Given the description of an element on the screen output the (x, y) to click on. 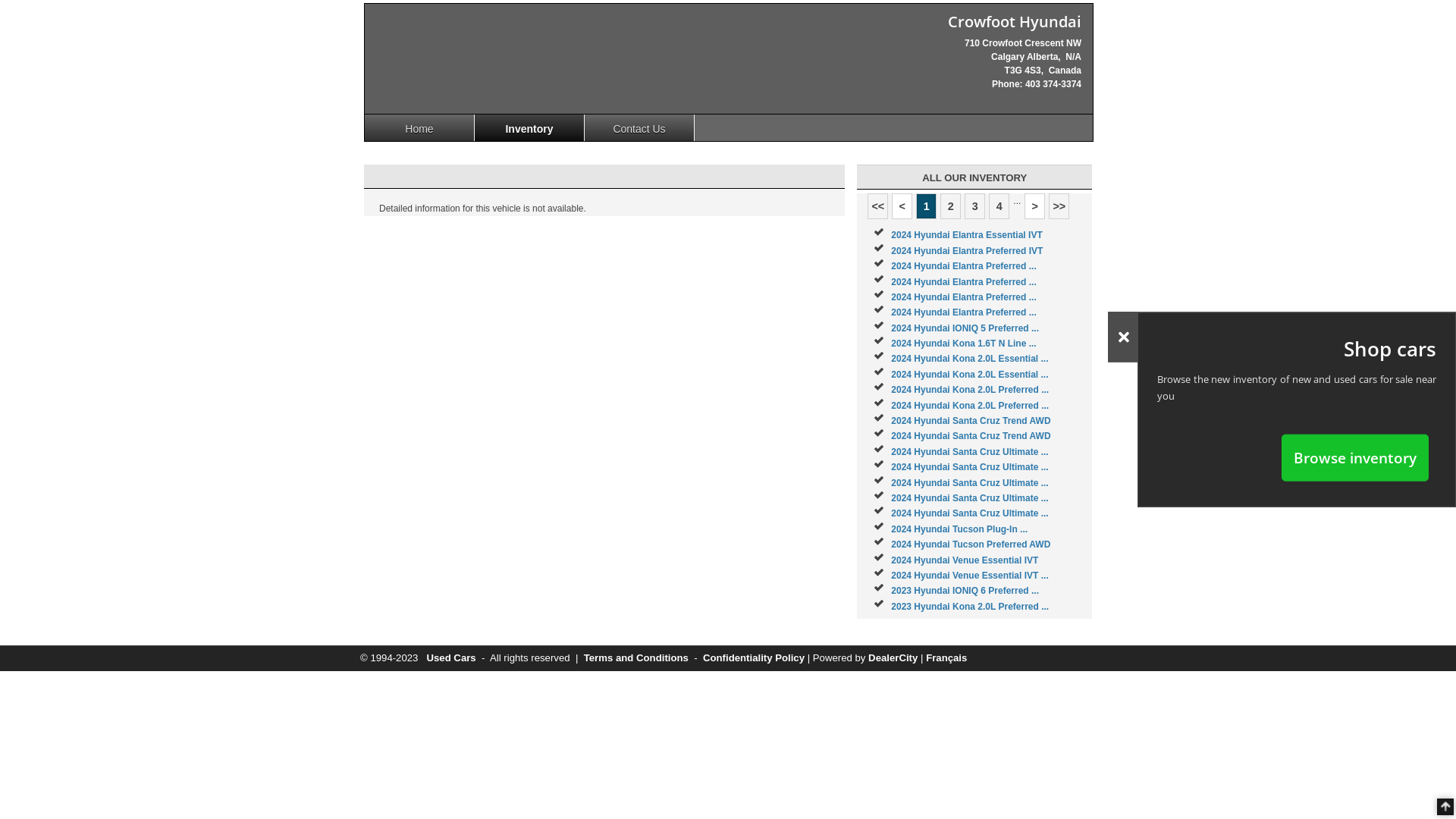
Used Cars Element type: text (450, 657)
2024 Hyundai Kona 2.0L Essential ... Element type: text (969, 358)
2024 Hyundai Elantra Preferred ... Element type: text (963, 281)
2024 Hyundai Elantra Preferred ... Element type: text (963, 296)
2024 Hyundai Kona 2.0L Preferred ... Element type: text (969, 389)
< Element type: text (901, 206)
3 Element type: text (974, 206)
2024 Hyundai Elantra Preferred ... Element type: text (963, 312)
2024 Hyundai Kona 2.0L Essential ... Element type: text (969, 374)
2024 Hyundai Elantra Preferred ... Element type: text (963, 265)
Contact Us Element type: text (639, 127)
2024 Hyundai Kona 2.0L Preferred ... Element type: text (969, 405)
1 Element type: text (926, 206)
Terms and Conditions Element type: text (635, 657)
2024 Hyundai Santa Cruz Trend AWD Element type: text (970, 420)
2024 Hyundai Kona 1.6T N Line ... Element type: text (963, 343)
2024 Hyundai Venue Essential IVT ... Element type: text (969, 575)
Home Element type: text (419, 127)
2 Element type: text (950, 206)
2024 Hyundai Elantra Preferred IVT Element type: text (966, 250)
4 Element type: text (998, 206)
> Element type: text (1034, 206)
2024 Hyundai Santa Cruz Trend AWD Element type: text (970, 435)
2024 Hyundai Venue Essential IVT Element type: text (964, 560)
2024 Hyundai IONIQ 5 Preferred ... Element type: text (964, 328)
DealerCity Element type: text (892, 657)
2023 Hyundai Kona 2.0L Preferred ... Element type: text (969, 606)
2024 Hyundai Santa Cruz Ultimate ... Element type: text (969, 466)
2024 Hyundai Santa Cruz Ultimate ... Element type: text (969, 482)
Inventory Element type: text (529, 127)
2024 Hyundai Elantra Essential IVT Element type: text (966, 234)
2024 Hyundai Santa Cruz Ultimate ... Element type: text (969, 497)
2023 Hyundai IONIQ 6 Preferred ... Element type: text (964, 590)
Confidentiality Policy Element type: text (753, 657)
2024 Hyundai Tucson Plug-In ... Element type: text (959, 529)
2024 Hyundai Santa Cruz Ultimate ... Element type: text (969, 451)
<< Element type: text (877, 206)
2024 Hyundai Santa Cruz Ultimate ... Element type: text (969, 513)
Browse inventory Element type: text (1354, 457)
>> Element type: text (1058, 206)
2024 Hyundai Tucson Preferred AWD Element type: text (970, 544)
